Given the description of an element on the screen output the (x, y) to click on. 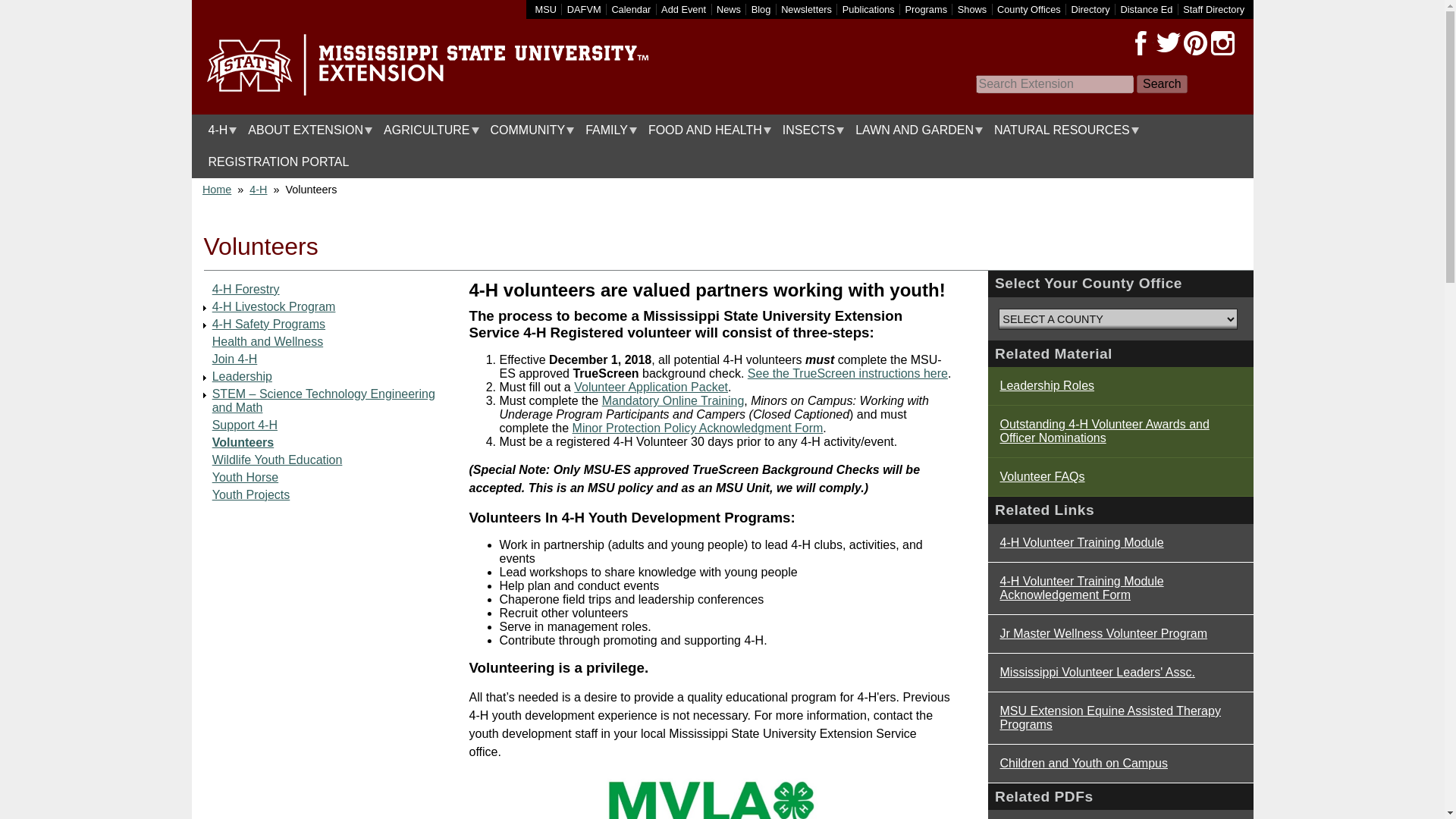
The main event calendar for the MSU Extension Service (630, 9)
Publications (869, 9)
Staff Directory (1213, 9)
Programs (926, 9)
Link to Mississippi State University (545, 9)
Newsletters (805, 9)
Instagram (1221, 43)
Blog (761, 9)
